Given the description of an element on the screen output the (x, y) to click on. 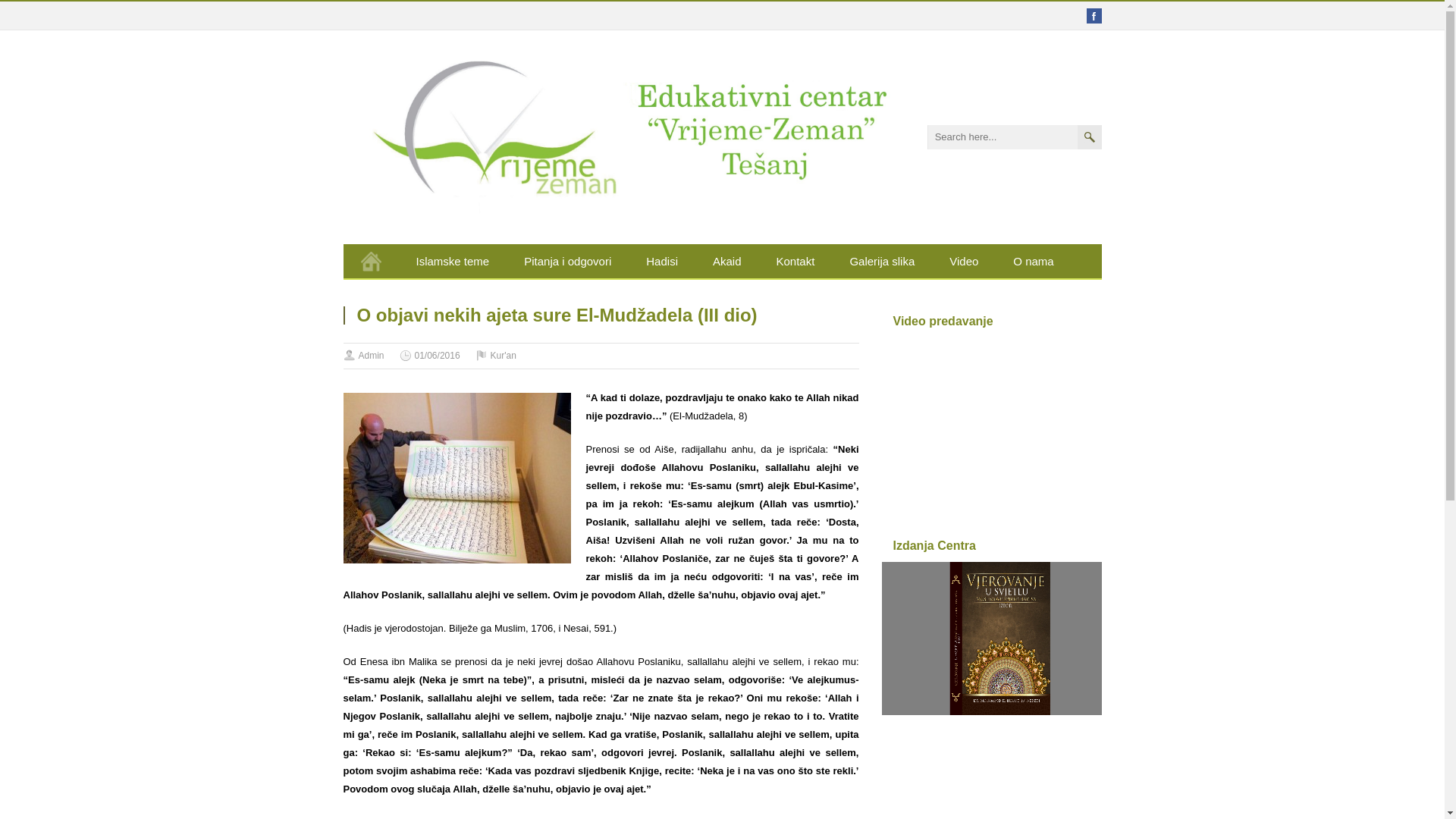
Video Element type: text (963, 261)
Islamske teme Element type: text (452, 261)
Akaid Element type: text (727, 261)
Hadisi Element type: text (661, 261)
O nama Element type: text (1032, 261)
Kontakt Element type: text (794, 261)
Pitanja i odgovori Element type: text (567, 261)
Galerija slika Element type: text (881, 261)
Kur'an Element type: text (503, 355)
Admin Element type: text (370, 355)
